Given the description of an element on the screen output the (x, y) to click on. 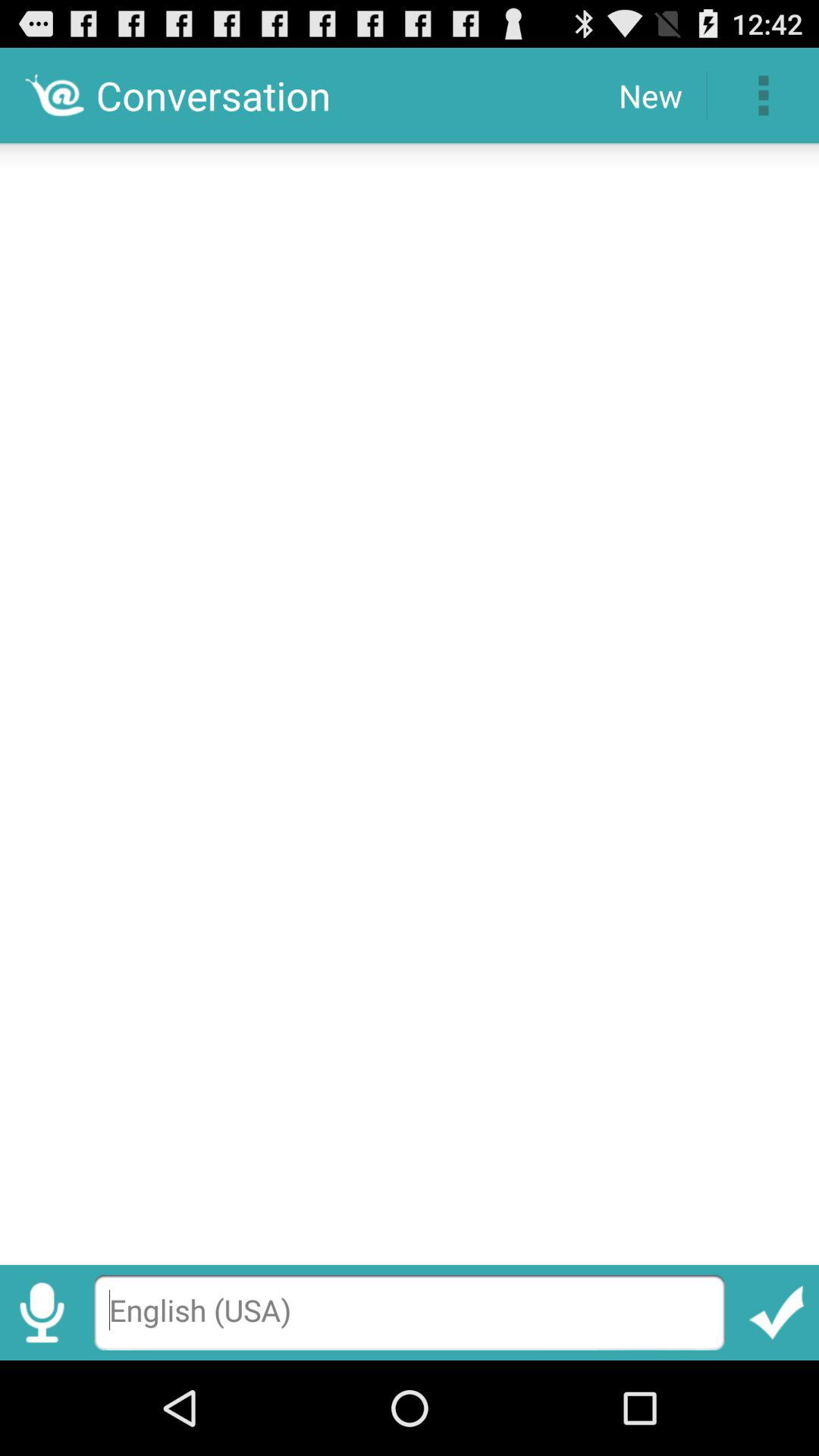
turn on the item next to the new icon (763, 95)
